Given the description of an element on the screen output the (x, y) to click on. 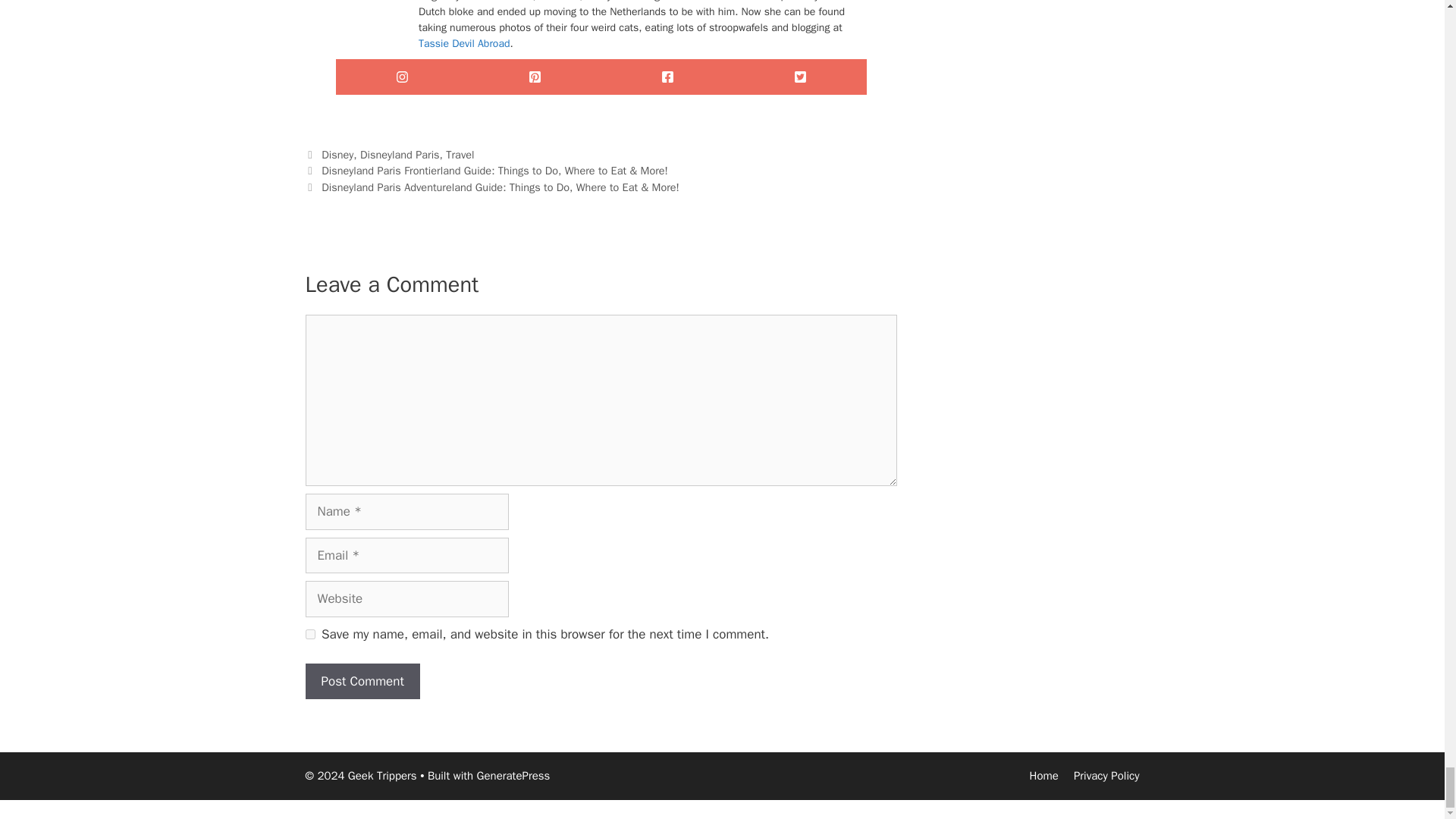
Post Comment (361, 681)
Disney (337, 154)
Tassie Devil Abroad (465, 42)
Disneyland Paris (399, 154)
Post Comment (361, 681)
Travel (459, 154)
yes (309, 634)
